Given the description of an element on the screen output the (x, y) to click on. 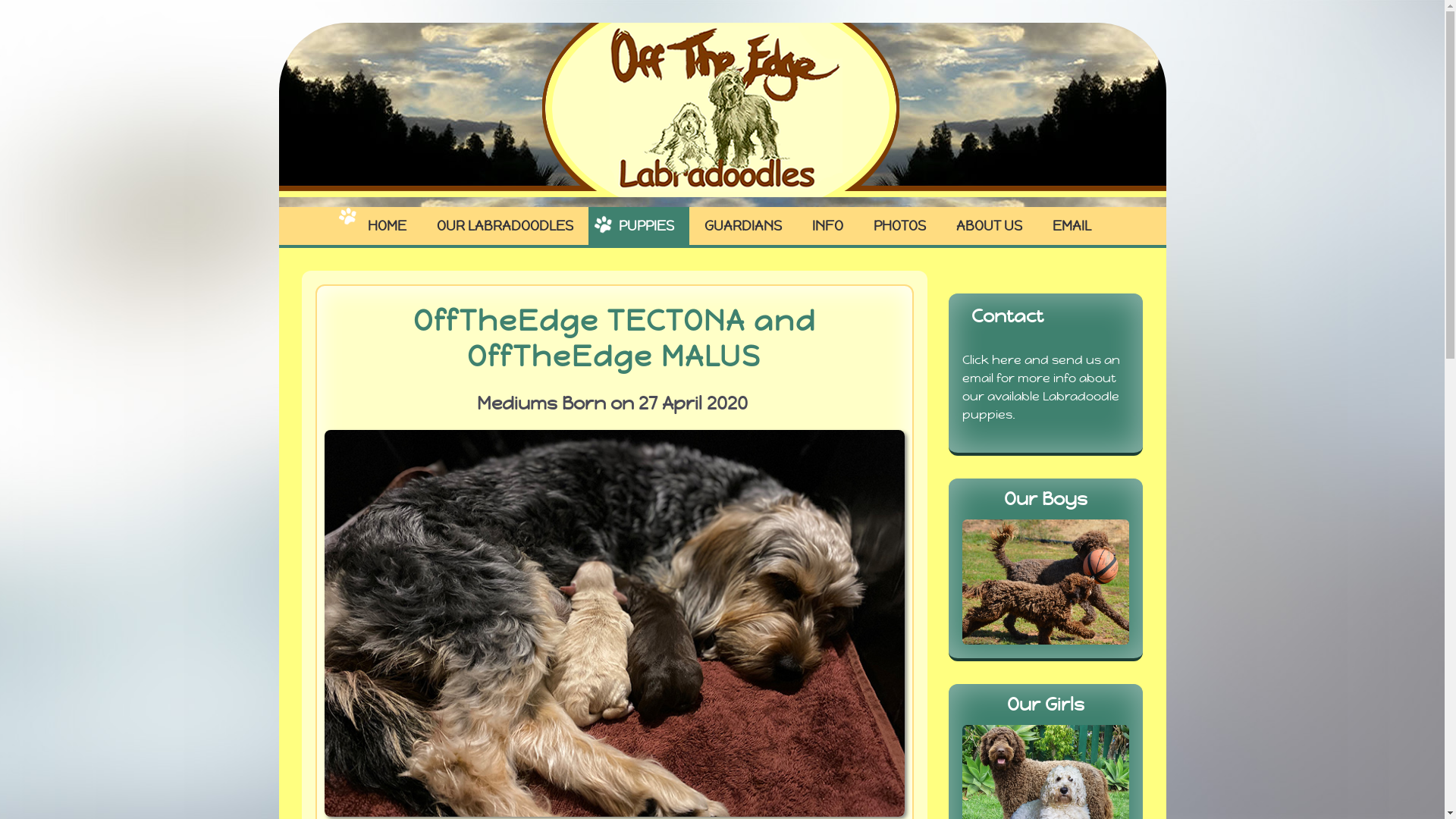
EMAIL Element type: text (1071, 225)
INFO Element type: text (826, 225)
PHOTOS Element type: text (899, 225)
HOME Element type: text (378, 225)
PUPPIES Element type: text (638, 225)
GUARDIANS Element type: text (742, 225)
ABOUT US Element type: text (988, 225)
OUR LABRADOODLES Element type: text (504, 225)
